Given the description of an element on the screen output the (x, y) to click on. 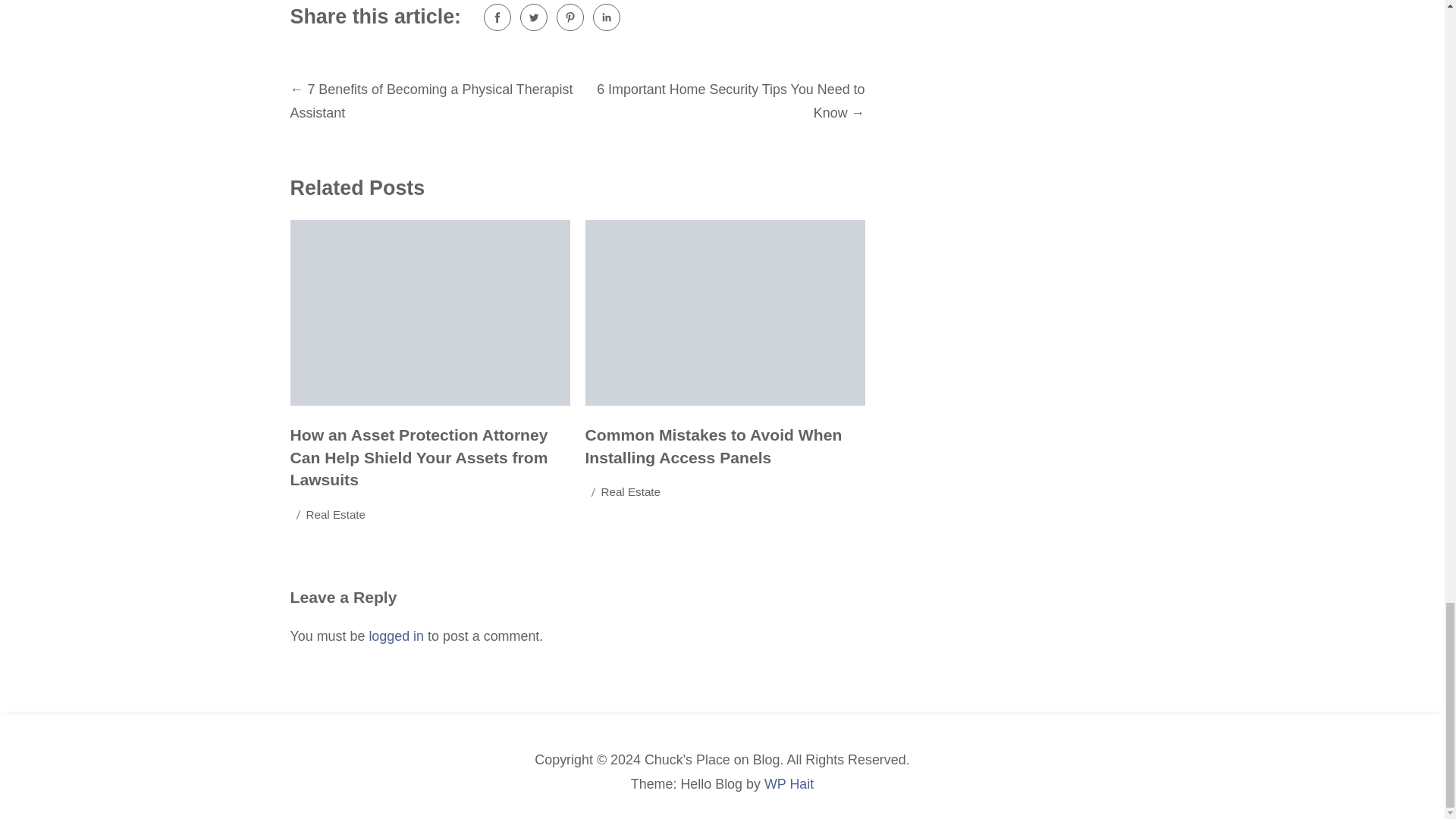
Common Mistakes to Avoid When Installing Access Panels (714, 445)
Real Estate (630, 492)
logged in (395, 635)
Real Estate (335, 515)
